Given the description of an element on the screen output the (x, y) to click on. 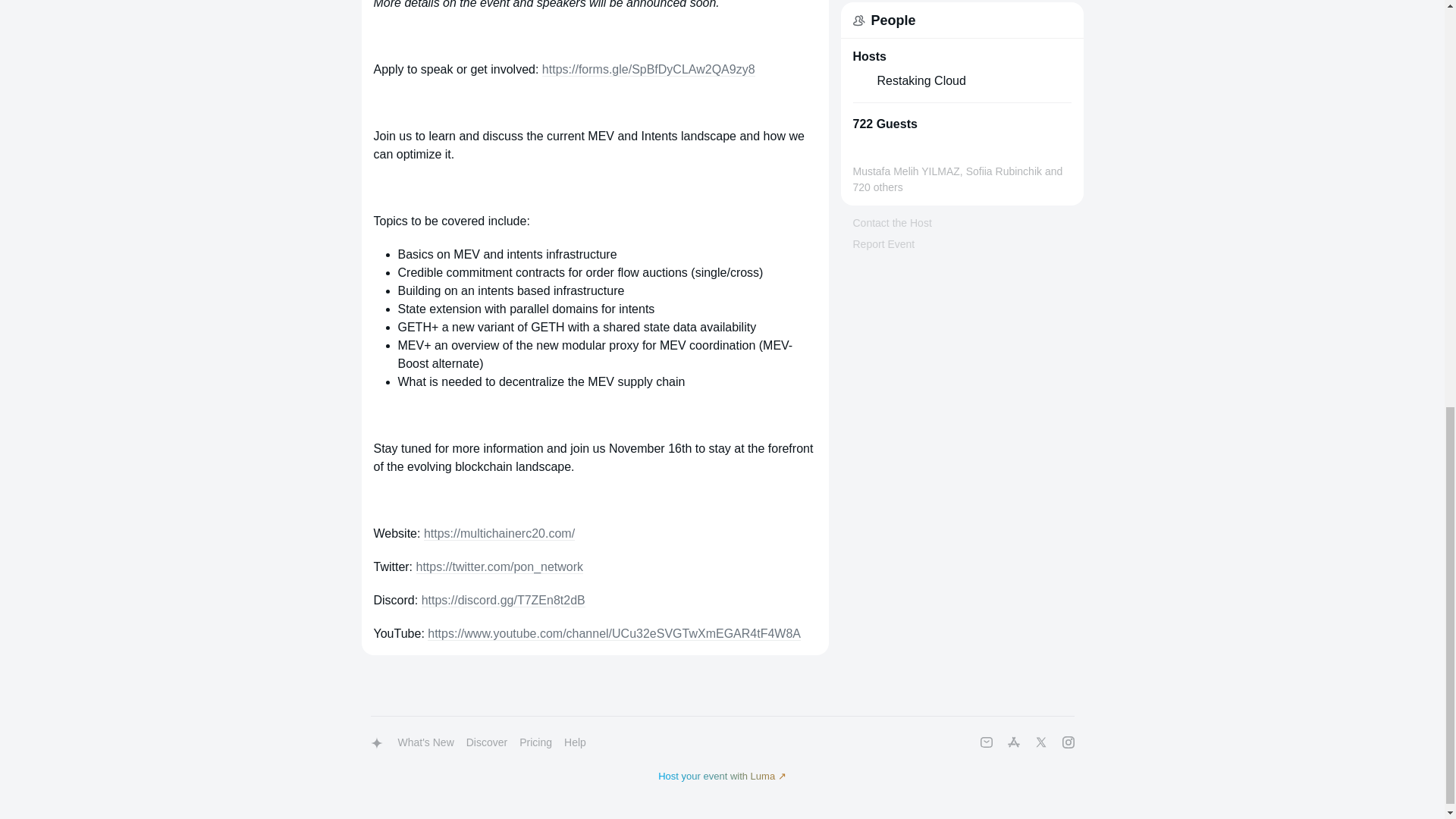
Mustafa Melih YILMAZ, Sofiia Rubinchik and 720 others (960, 167)
Restaking Cloud (960, 81)
What's New (425, 742)
Pricing (535, 742)
Contact the Host (891, 222)
Restaking Cloud (920, 81)
Discover (486, 742)
Help (574, 742)
Report Event (882, 244)
